Given the description of an element on the screen output the (x, y) to click on. 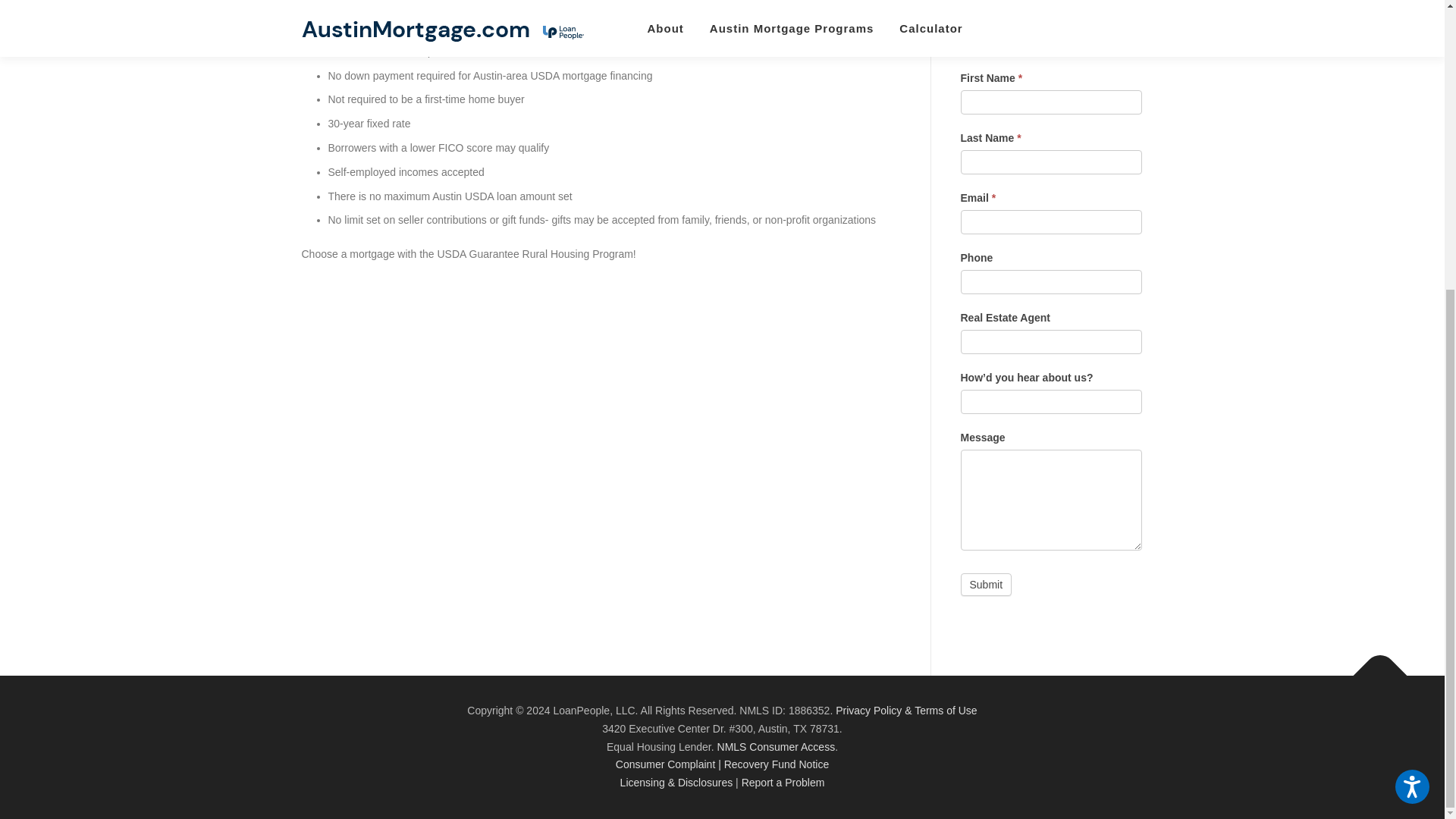
Submit (985, 584)
Back To Top (1372, 668)
Report a Problem (783, 782)
NMLS Consumer Access (776, 746)
